Given the description of an element on the screen output the (x, y) to click on. 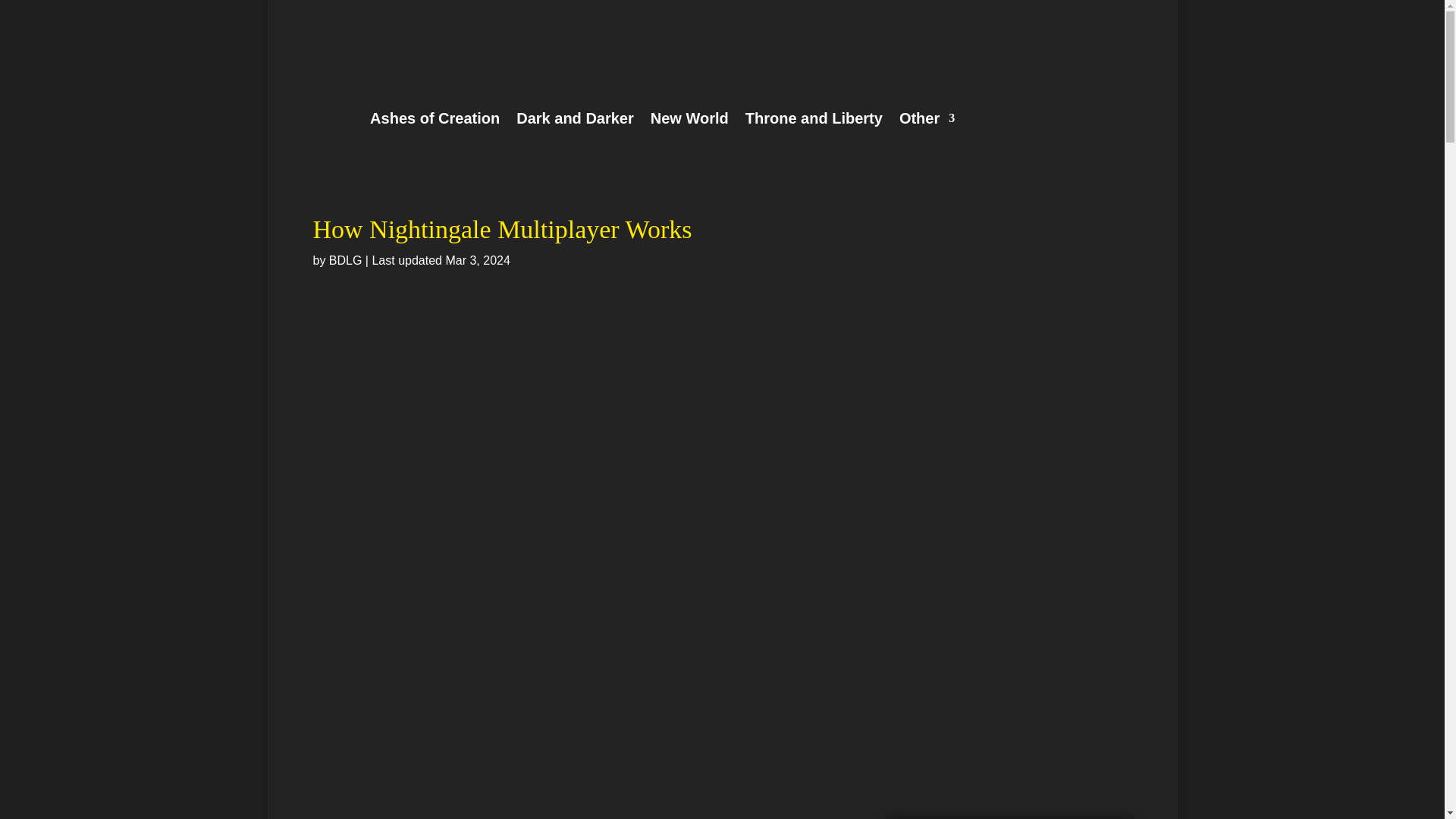
Dark and Darker (574, 118)
BDLG (345, 259)
Posts by BDLG (345, 259)
Throne and Liberty (813, 118)
Ashes of Creation (434, 118)
